Given the description of an element on the screen output the (x, y) to click on. 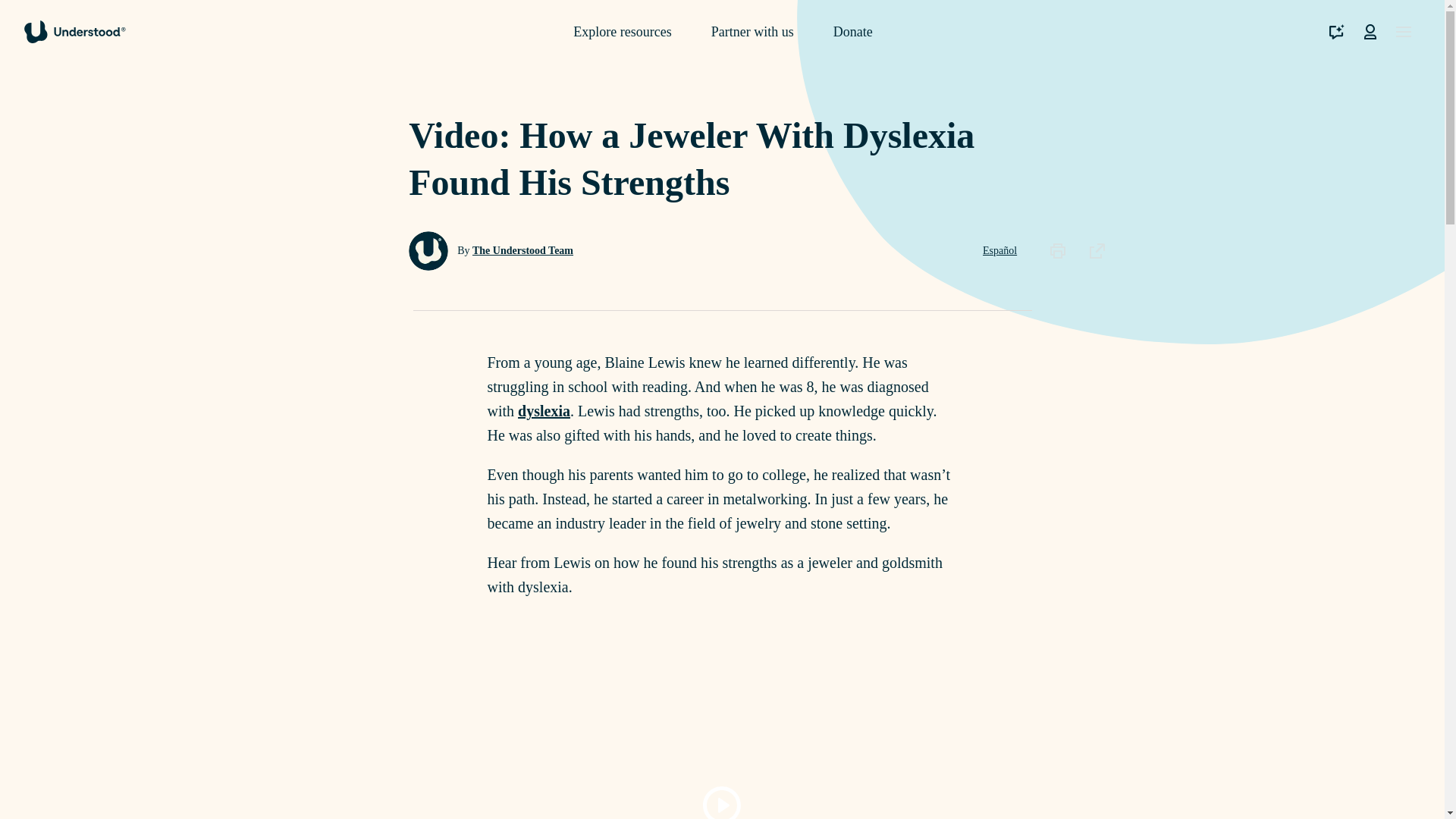
Partner with us (752, 31)
Explore resources (622, 31)
Donate (852, 31)
The Understood Team (522, 250)
